Given the description of an element on the screen output the (x, y) to click on. 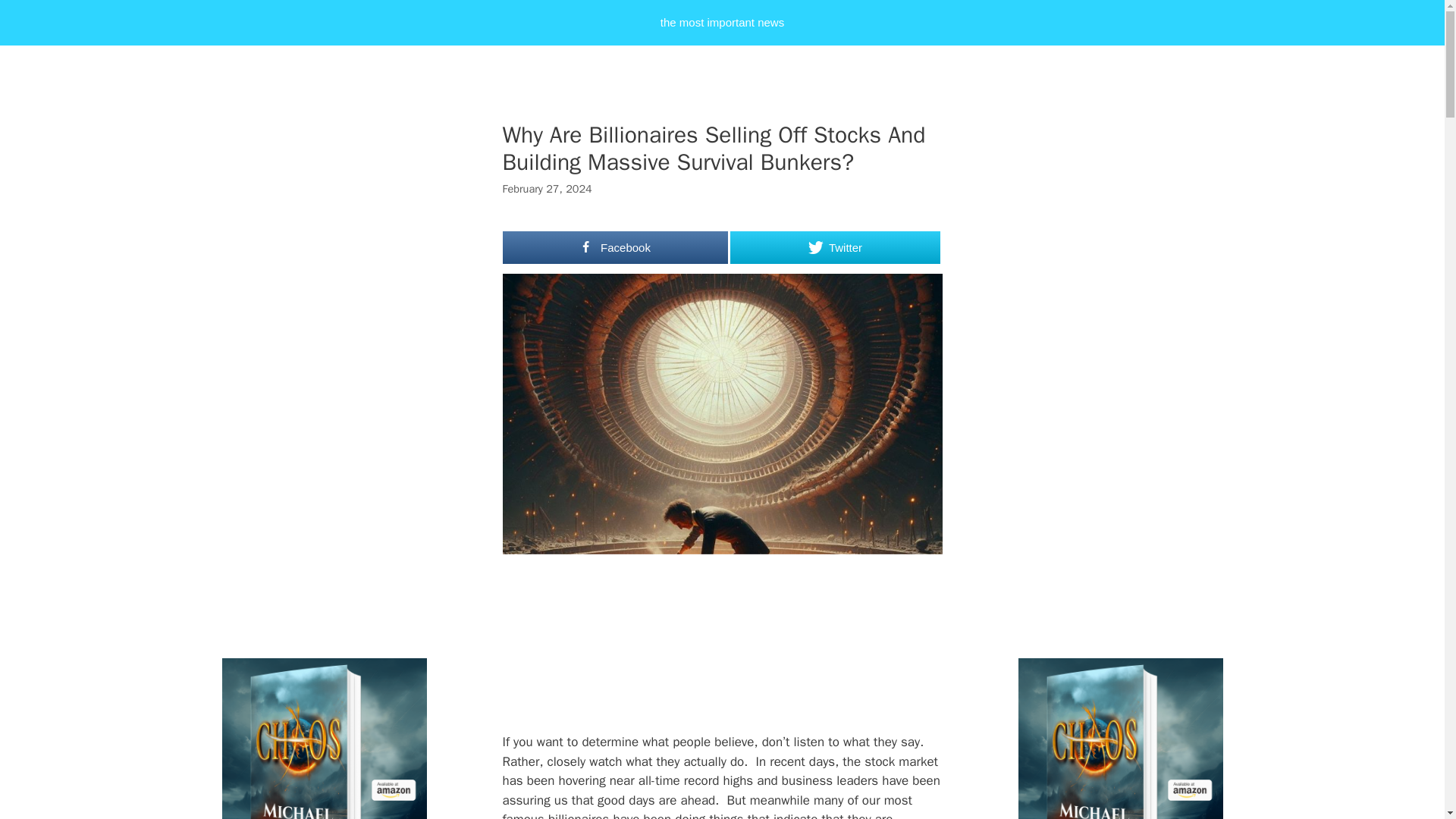
Twitter (834, 246)
the most important news (722, 22)
the most important news (722, 22)
Facebook (615, 246)
Facebook (615, 246)
Twitter (834, 246)
